Given the description of an element on the screen output the (x, y) to click on. 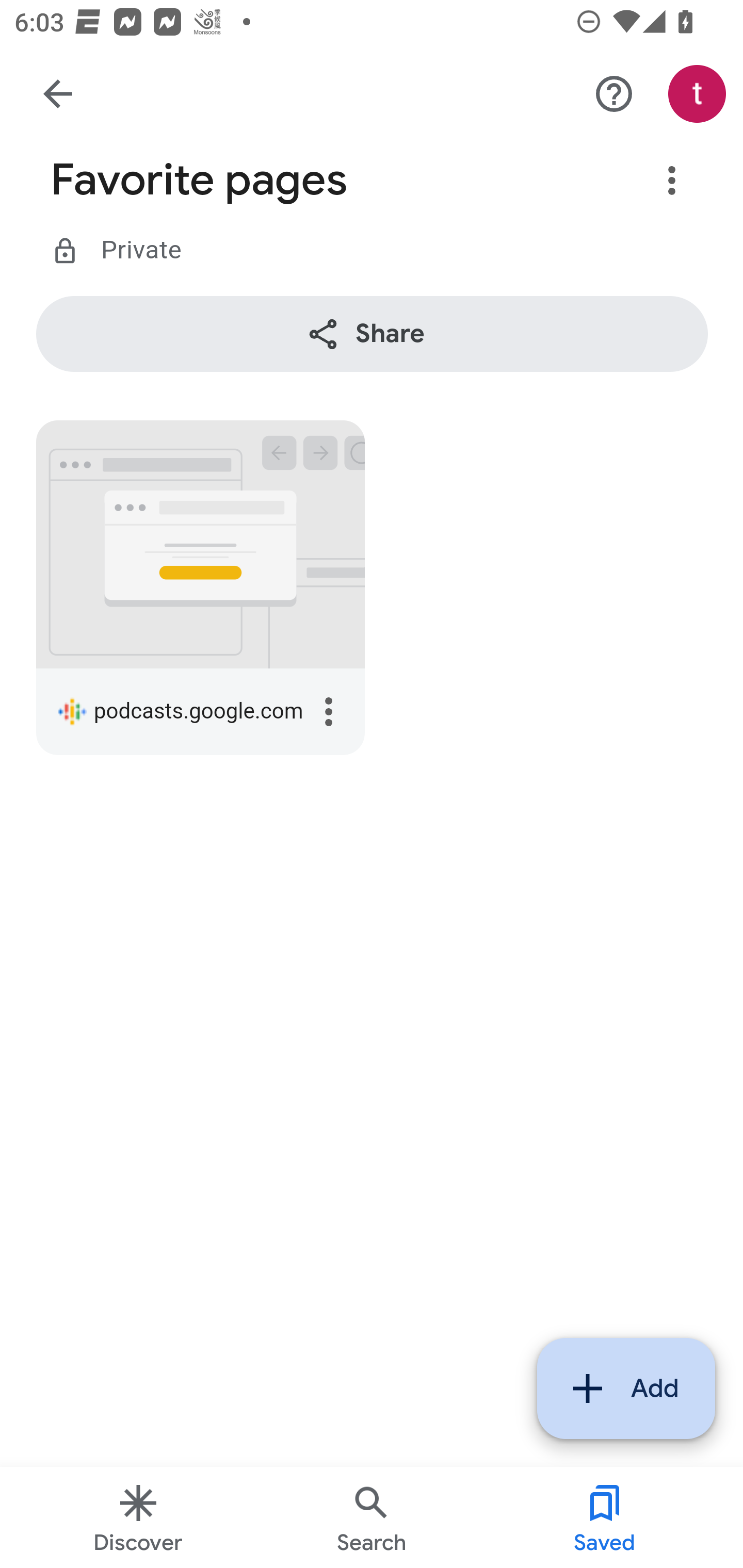
Go back (58, 93)
More options (614, 94)
More options (672, 180)
Share (372, 333)
More options (329, 712)
Add (626, 1388)
Discover (137, 1517)
Search (371, 1517)
